Given the description of an element on the screen output the (x, y) to click on. 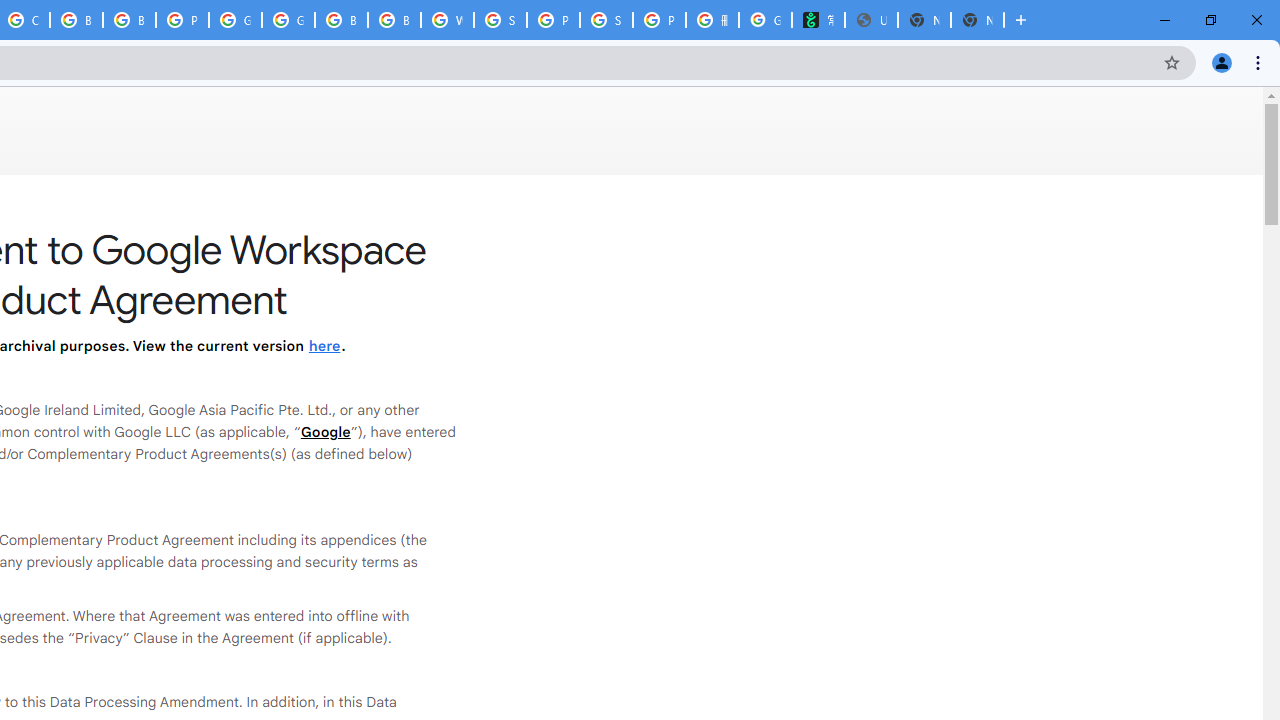
Sign in - Google Accounts (500, 20)
here (324, 345)
Browse Chrome as a guest - Computer - Google Chrome Help (76, 20)
Untitled (871, 20)
